Given the description of an element on the screen output the (x, y) to click on. 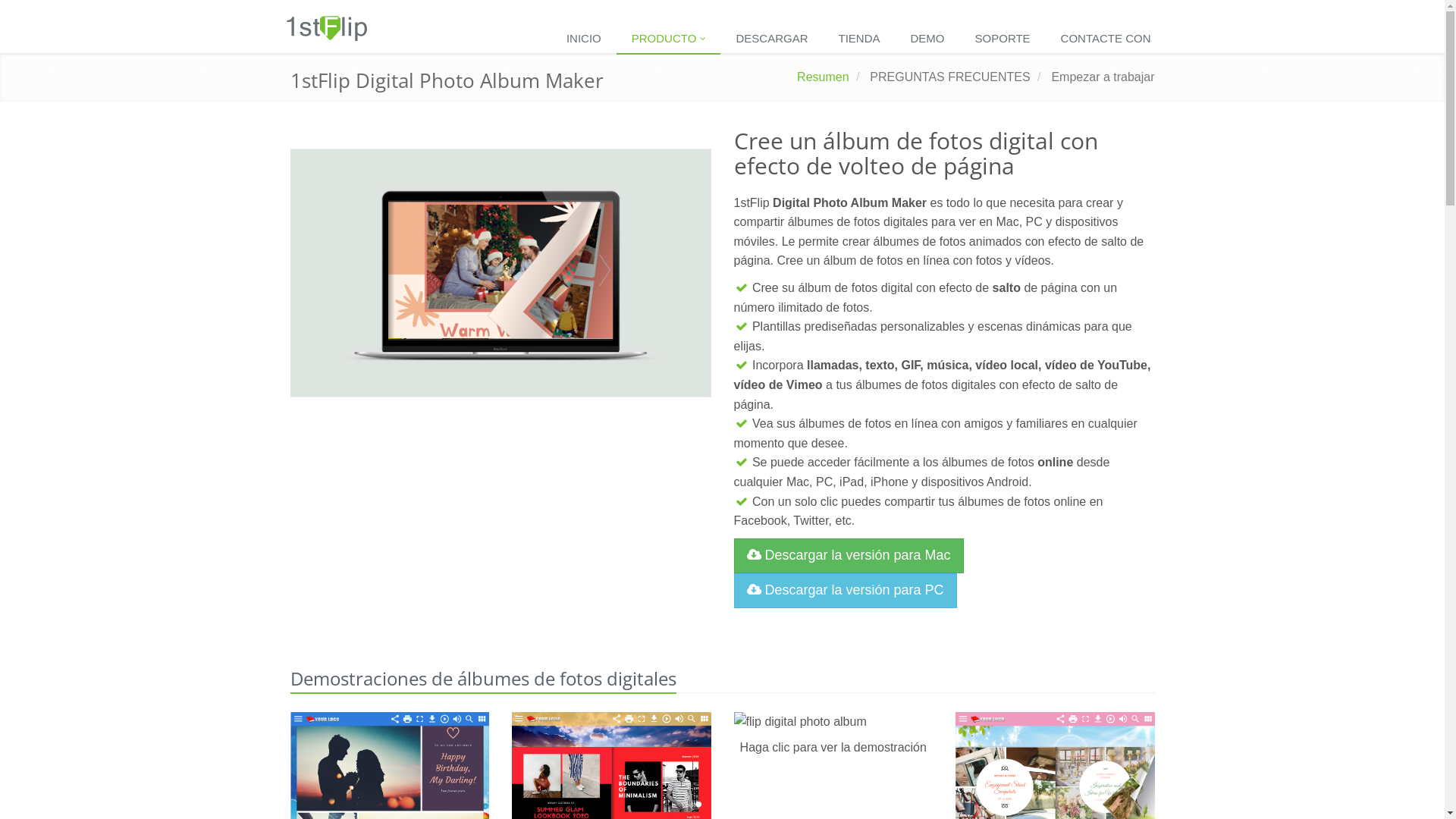
PRODUCTO Element type: text (668, 39)
PREGUNTAS FRECUENTES Element type: text (949, 76)
DESCARGAR Element type: text (771, 39)
Empezar a trabajar Element type: text (1102, 76)
CONTACTE CON Element type: text (1105, 39)
TIENDA Element type: text (859, 39)
INICIO Element type: text (583, 39)
Click to view digital photo album Element type: hover (833, 721)
SOPORTE Element type: text (1002, 39)
DEMO Element type: text (927, 39)
